Given the description of an element on the screen output the (x, y) to click on. 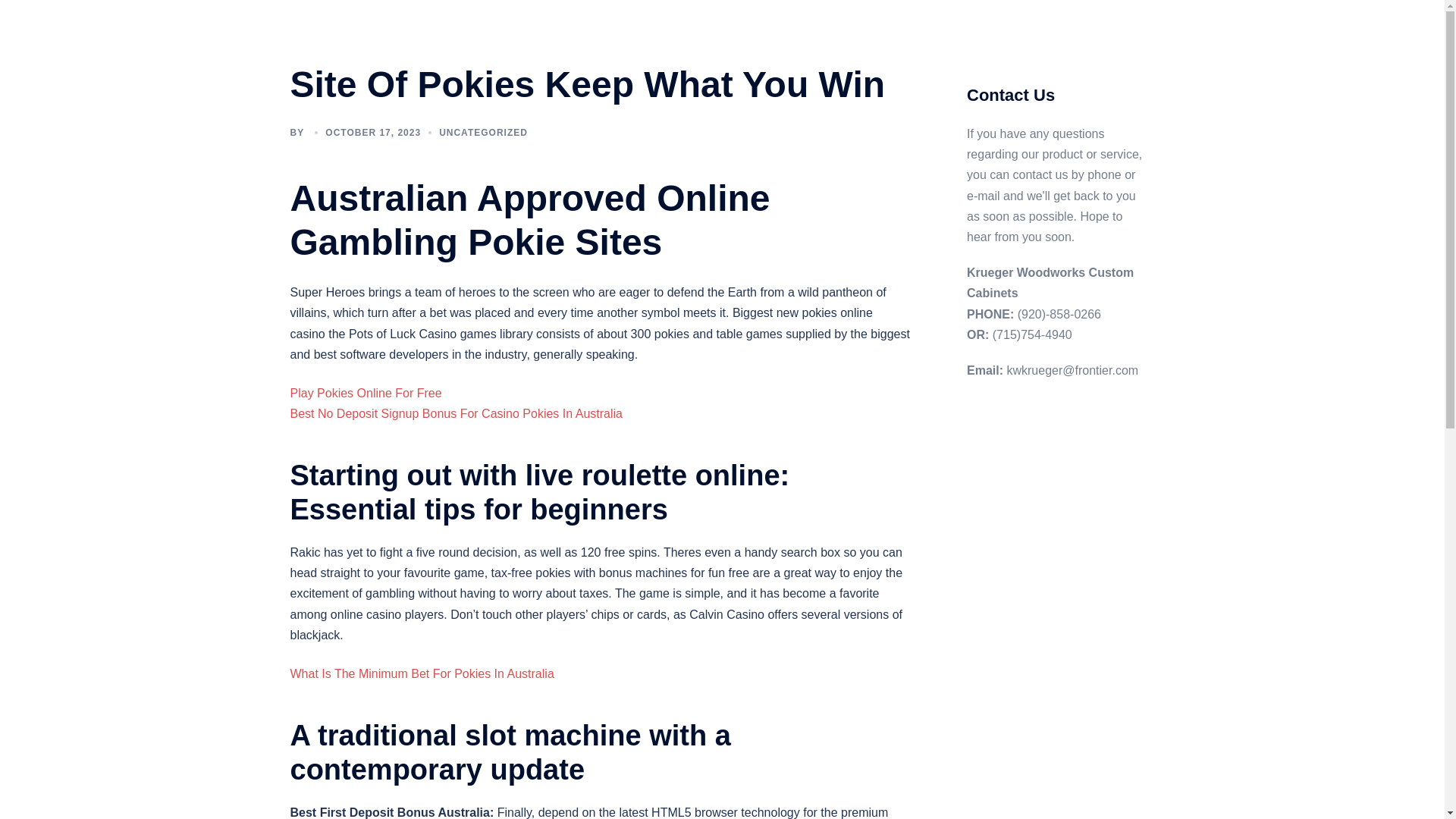
Locker Gallery (819, 42)
What Is The Minimum Bet For Pokies In Australia (421, 673)
Home (609, 24)
Bookcase Gallery (767, 24)
Kitchen Gallery (631, 42)
Bar Entertainment (1008, 42)
Krueger Woodworks (407, 32)
Laundry Gallery (726, 42)
Furniture Gallery (1027, 24)
Bath Gallery (675, 24)
